Given the description of an element on the screen output the (x, y) to click on. 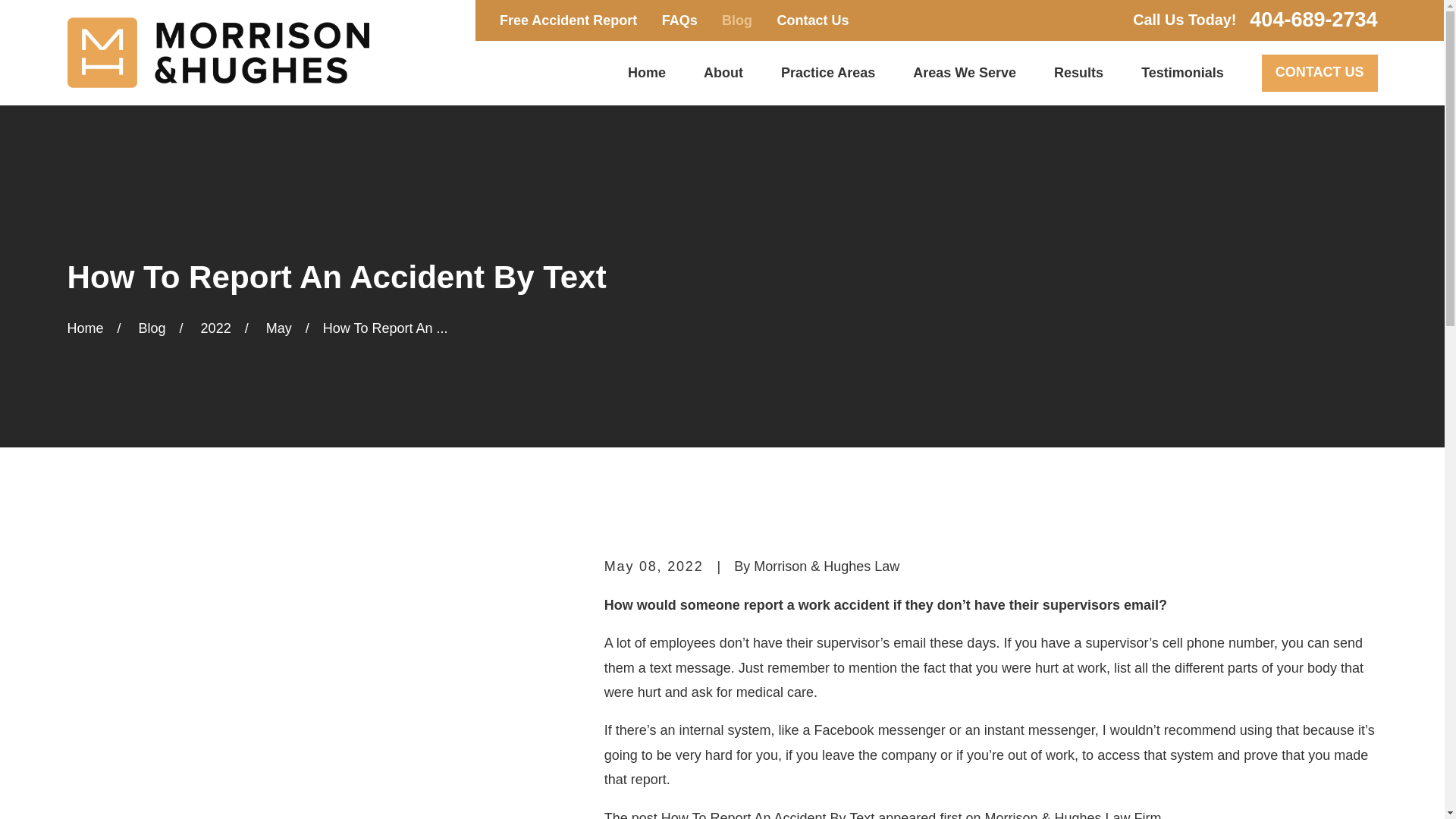
Go Home (84, 328)
Practice Areas (827, 72)
About (722, 72)
404-689-2734 (1313, 19)
FAQs (679, 20)
Contact Us (812, 20)
Home (646, 72)
Blog (737, 20)
Free Accident Report (568, 20)
Home (217, 52)
